Given the description of an element on the screen output the (x, y) to click on. 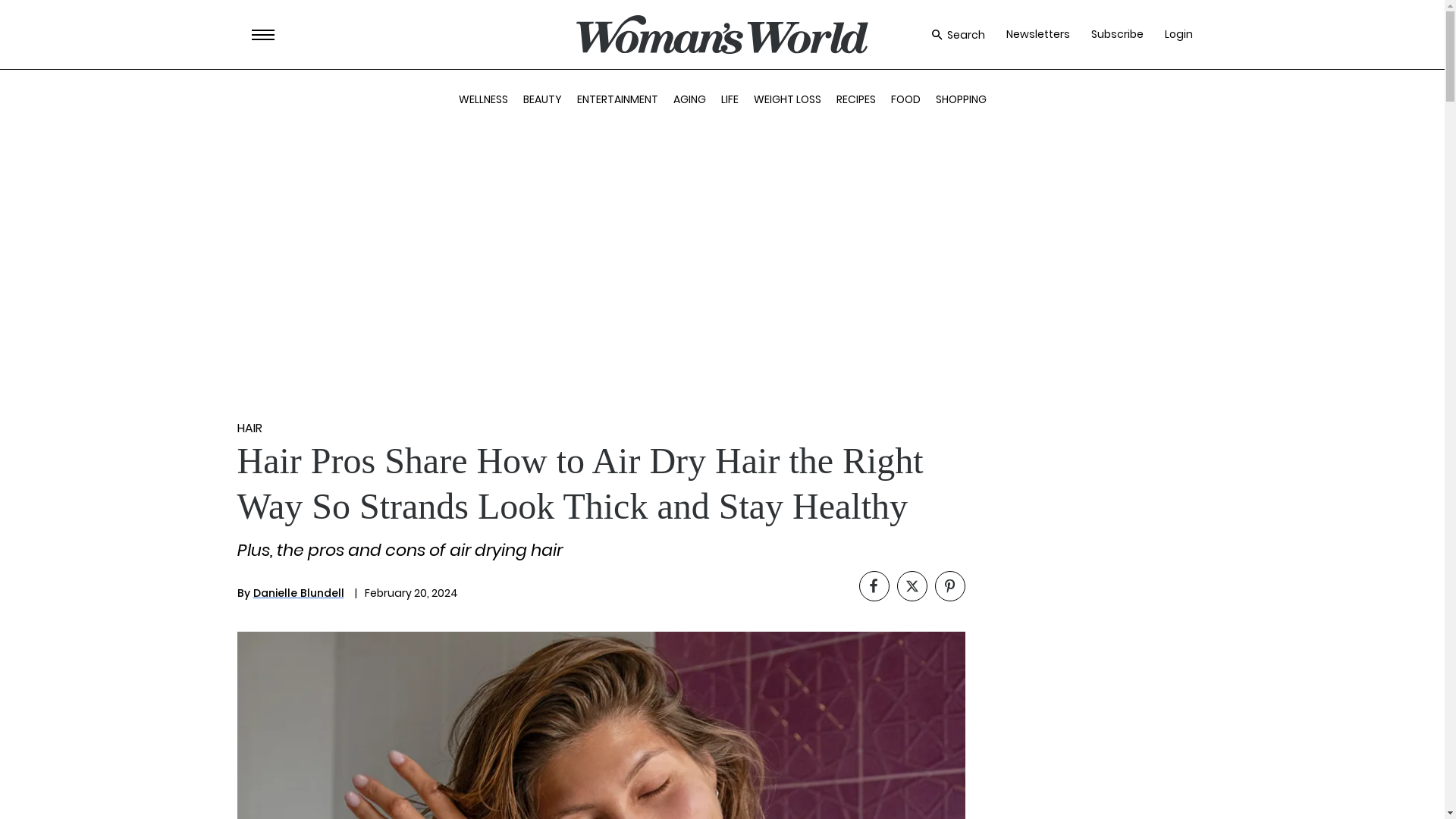
Click to share on Twitter (911, 585)
Click to share on Pinterest (948, 585)
Click to share on Facebook (873, 585)
